Given the description of an element on the screen output the (x, y) to click on. 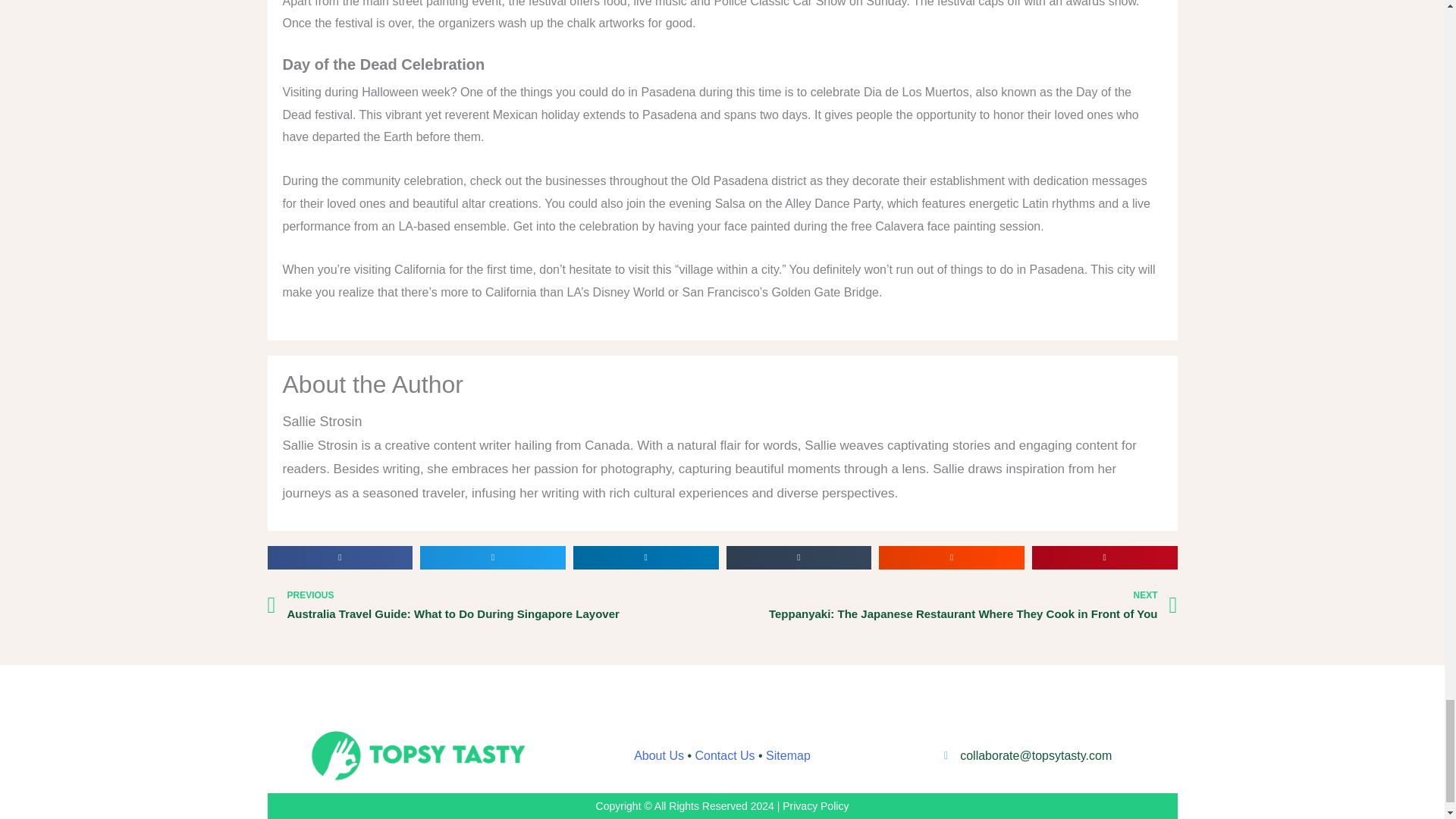
Privacy Policy (815, 806)
Contact Us (724, 755)
Sitemap (787, 755)
About Us (658, 755)
